Given the description of an element on the screen output the (x, y) to click on. 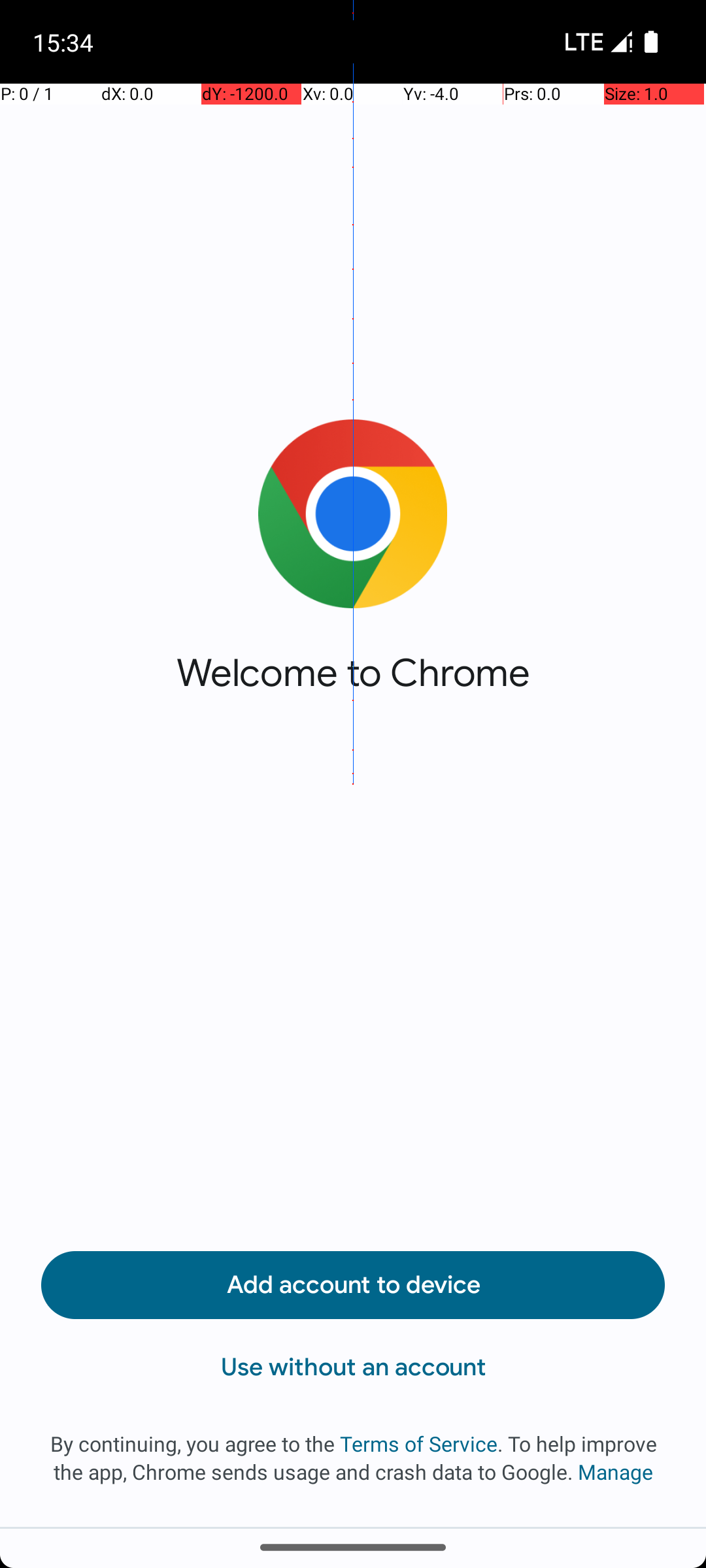
By continuing, you agree to the Terms of Service. To help improve the app, Chrome sends usage and crash data to Google. Manage Element type: android.widget.TextView (352, 1457)
Welcome to Chrome Element type: android.widget.TextView (353, 673)
Add account to device Element type: android.widget.Button (352, 1284)
Use without an account Element type: android.widget.Button (352, 1367)
